Given the description of an element on the screen output the (x, y) to click on. 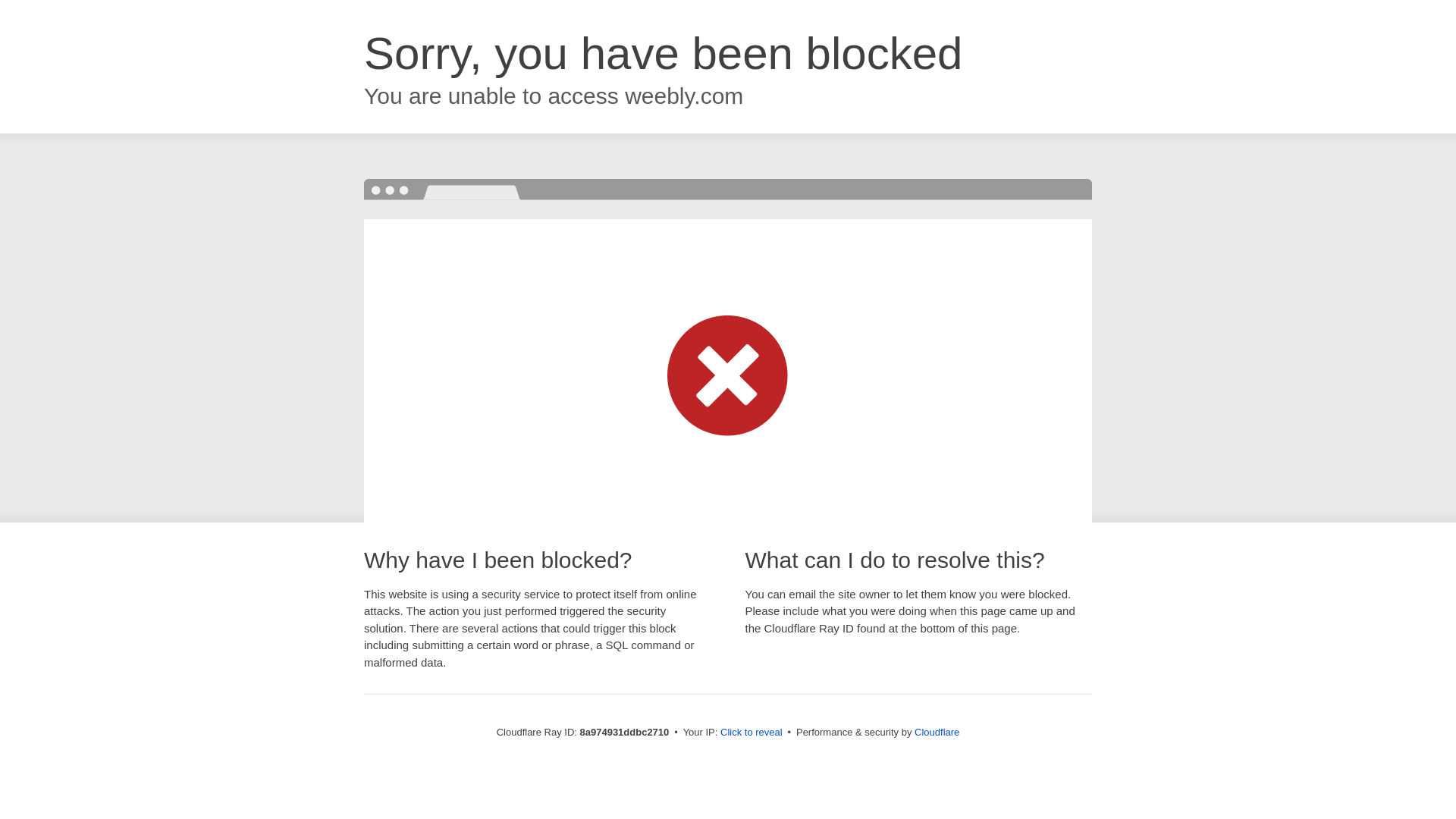
Cloudflare (936, 731)
Click to reveal (751, 732)
